Given the description of an element on the screen output the (x, y) to click on. 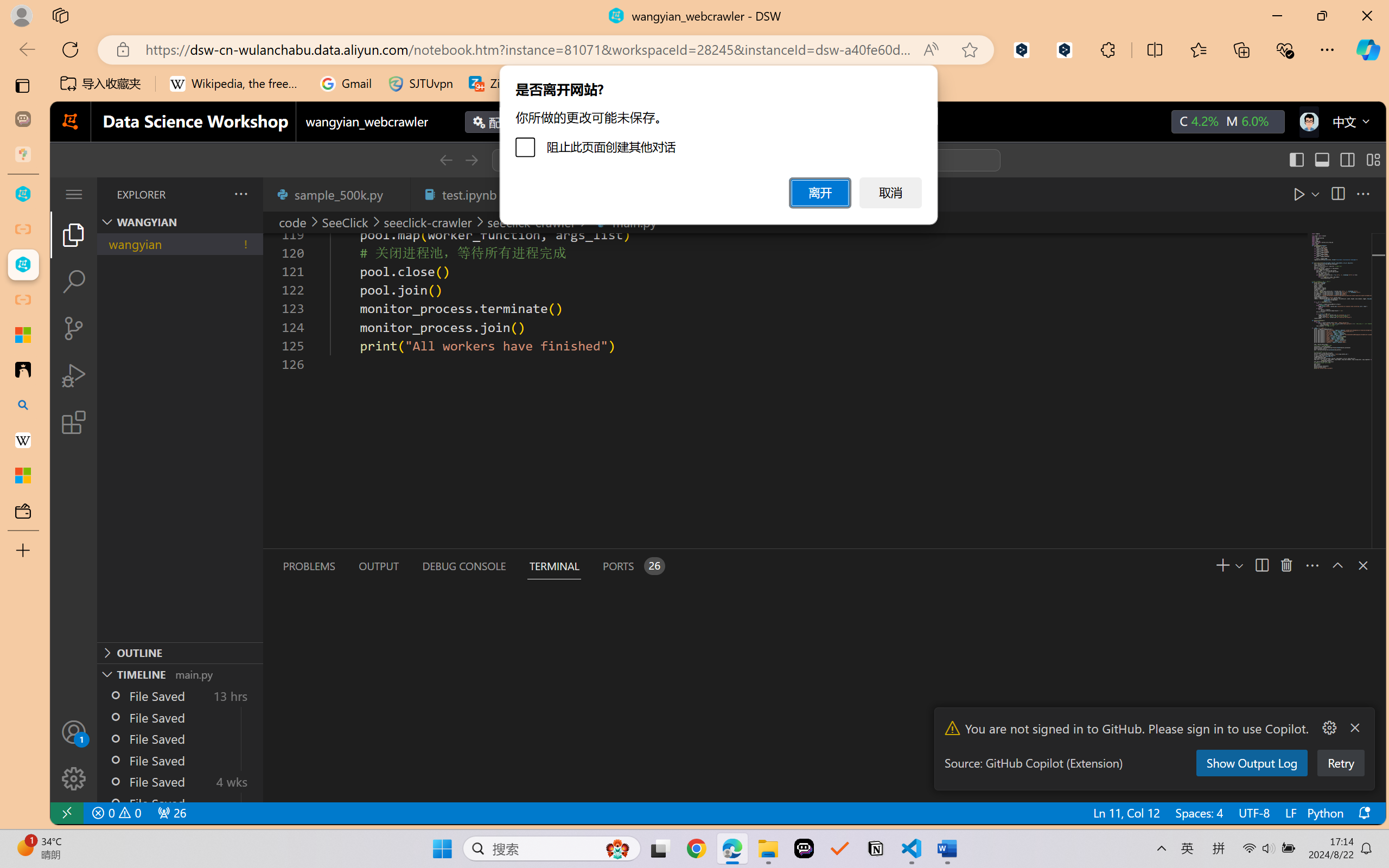
Zoom 62% (1364, 837)
&Cameo (67, 111)
